Given the description of an element on the screen output the (x, y) to click on. 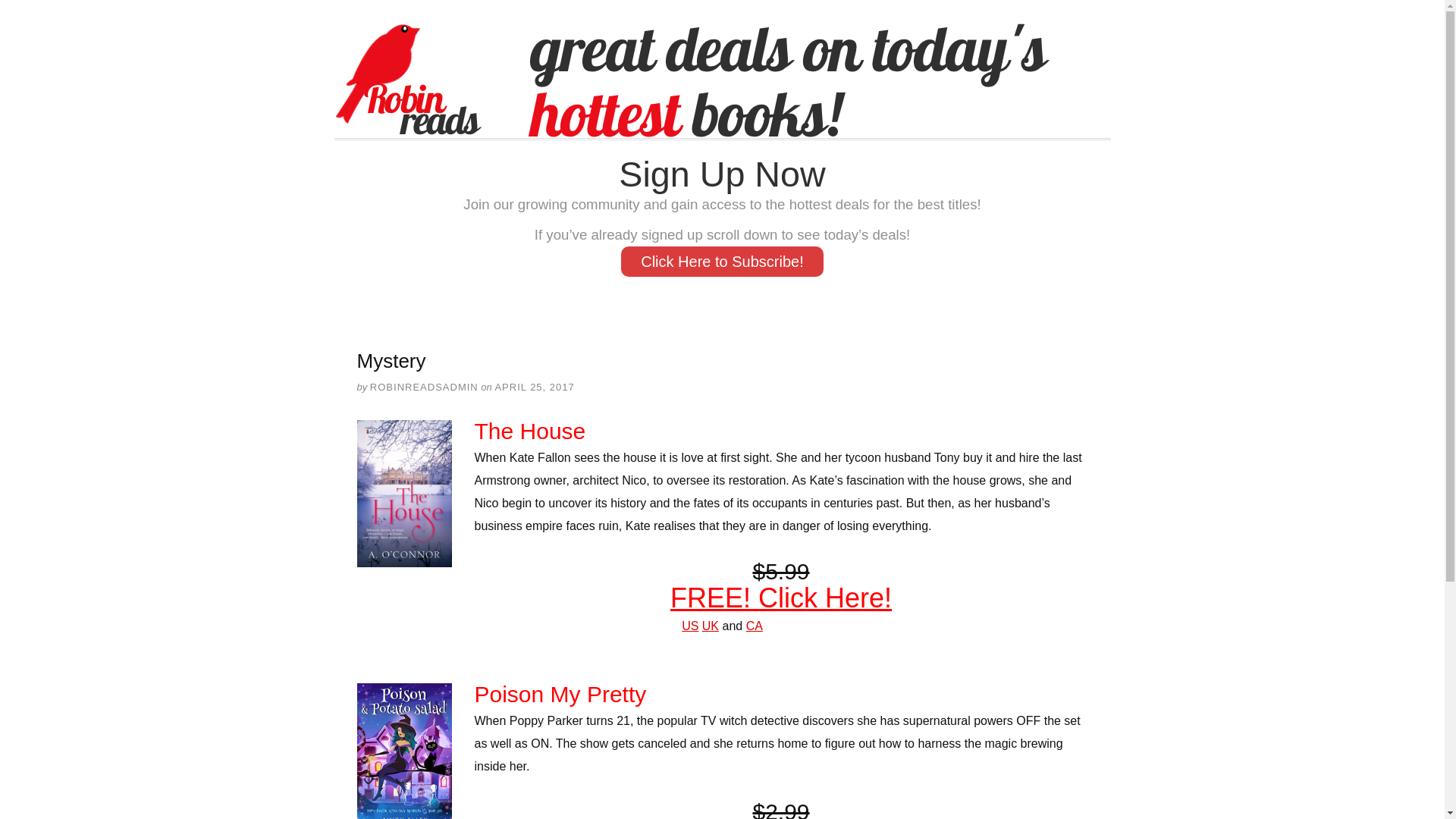
Click Here to Subscribe! (722, 261)
UK (710, 625)
CA (753, 625)
US (689, 625)
2017-04-25 (534, 387)
FREE! Click Here! (780, 597)
